Given the description of an element on the screen output the (x, y) to click on. 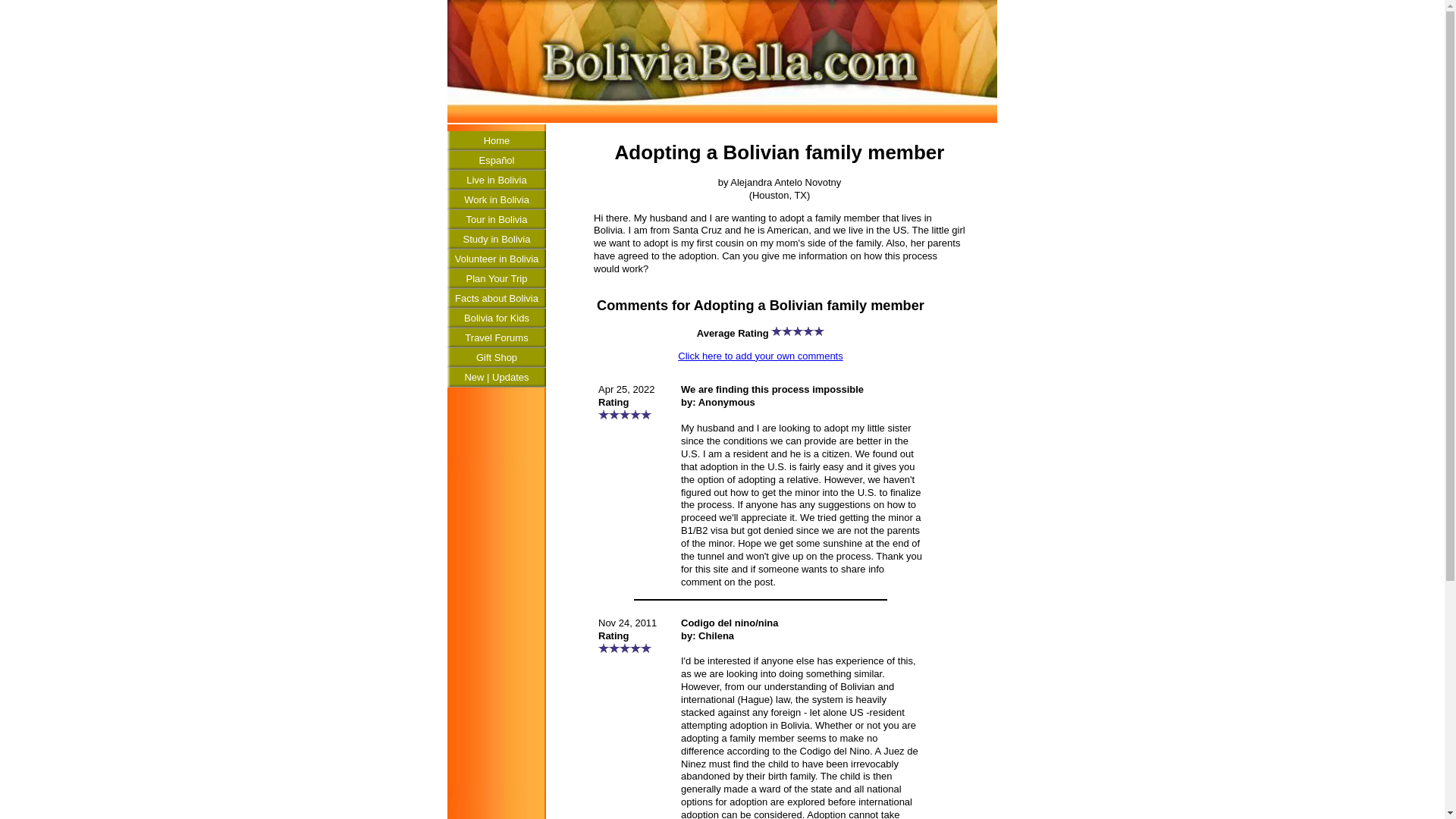
Plan Your Trip (496, 279)
Live in Bolivia (496, 180)
Home (496, 140)
Work in Bolivia (496, 199)
Gift Shop (496, 357)
Bolivia for Kids (496, 318)
Volunteer in Bolivia (496, 259)
Click here to add your own comments (760, 355)
Travel Forums (496, 338)
Facts about Bolivia (496, 298)
